Given the description of an element on the screen output the (x, y) to click on. 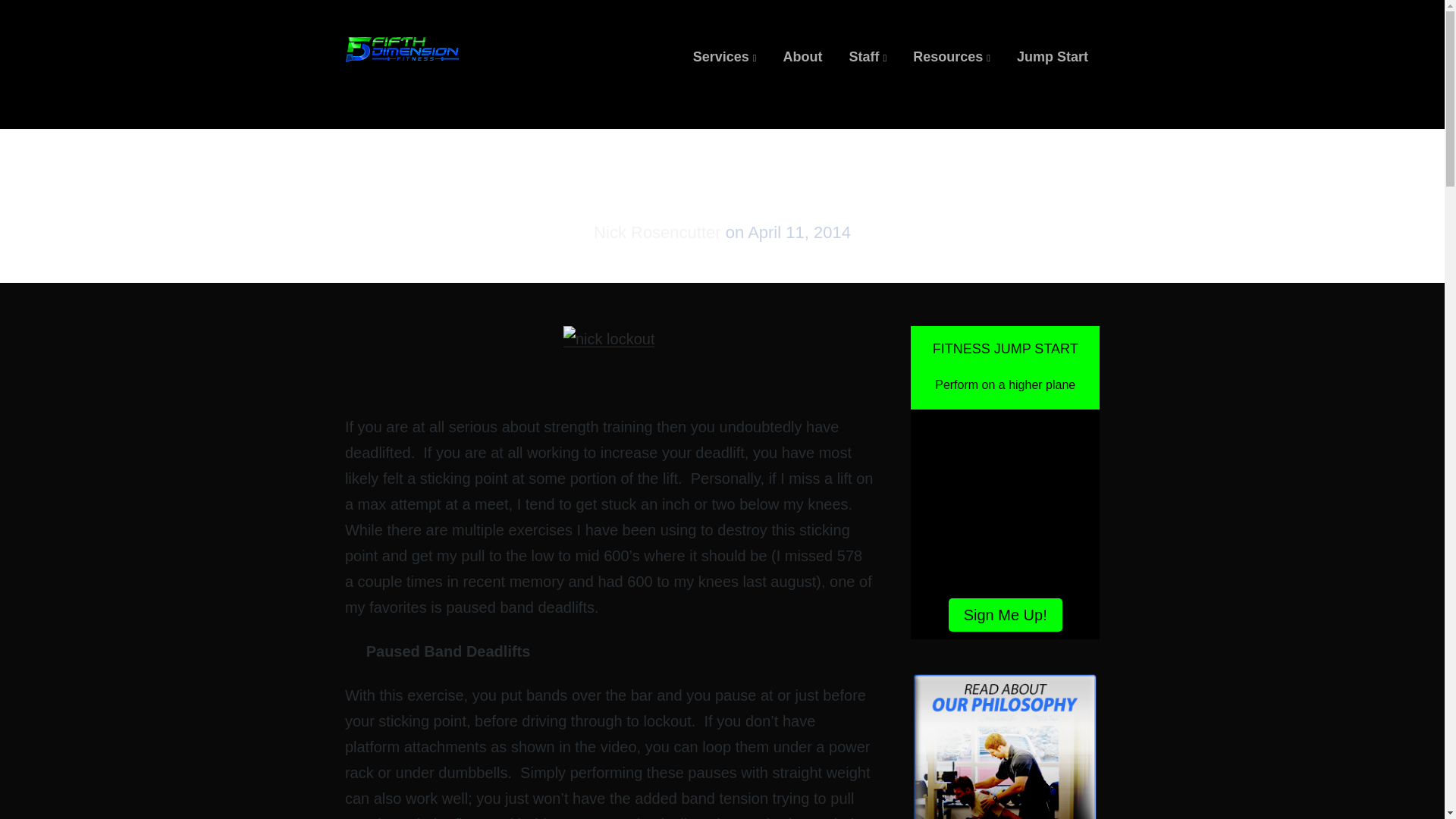
Nick Rosencutter (659, 231)
Services (725, 56)
Fifth Dimension Fitness (448, 73)
About (802, 56)
Resources (951, 56)
Jump Start (1051, 56)
Staff (867, 56)
